Given the description of an element on the screen output the (x, y) to click on. 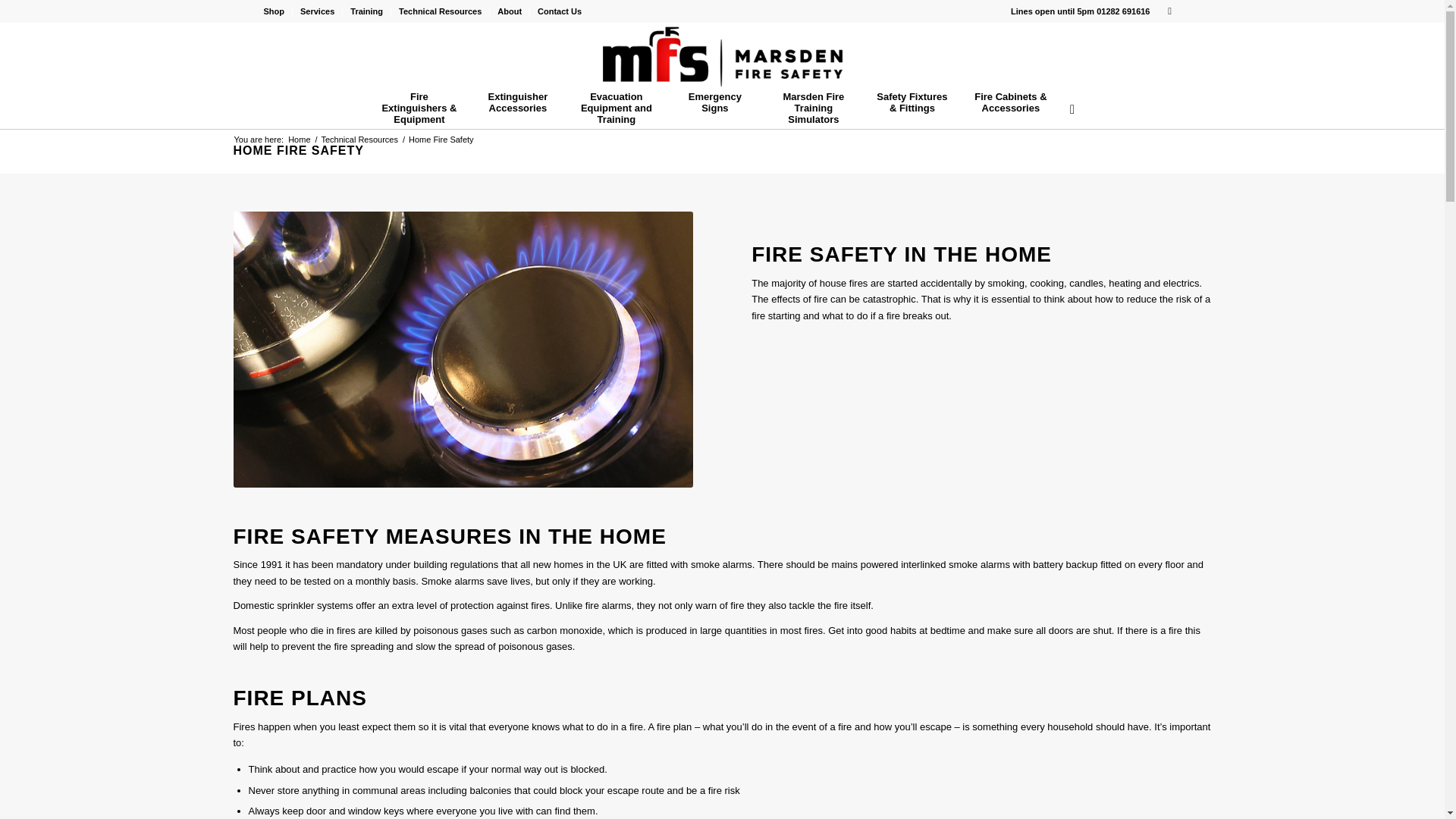
Shop (274, 11)
LinkedIn (1169, 11)
Training (366, 11)
Marsden Website (299, 139)
Services (316, 11)
About (509, 11)
Permanent Link: Home Fire Safety (298, 150)
Technical Resources (439, 11)
Technical Resources (359, 139)
